Given the description of an element on the screen output the (x, y) to click on. 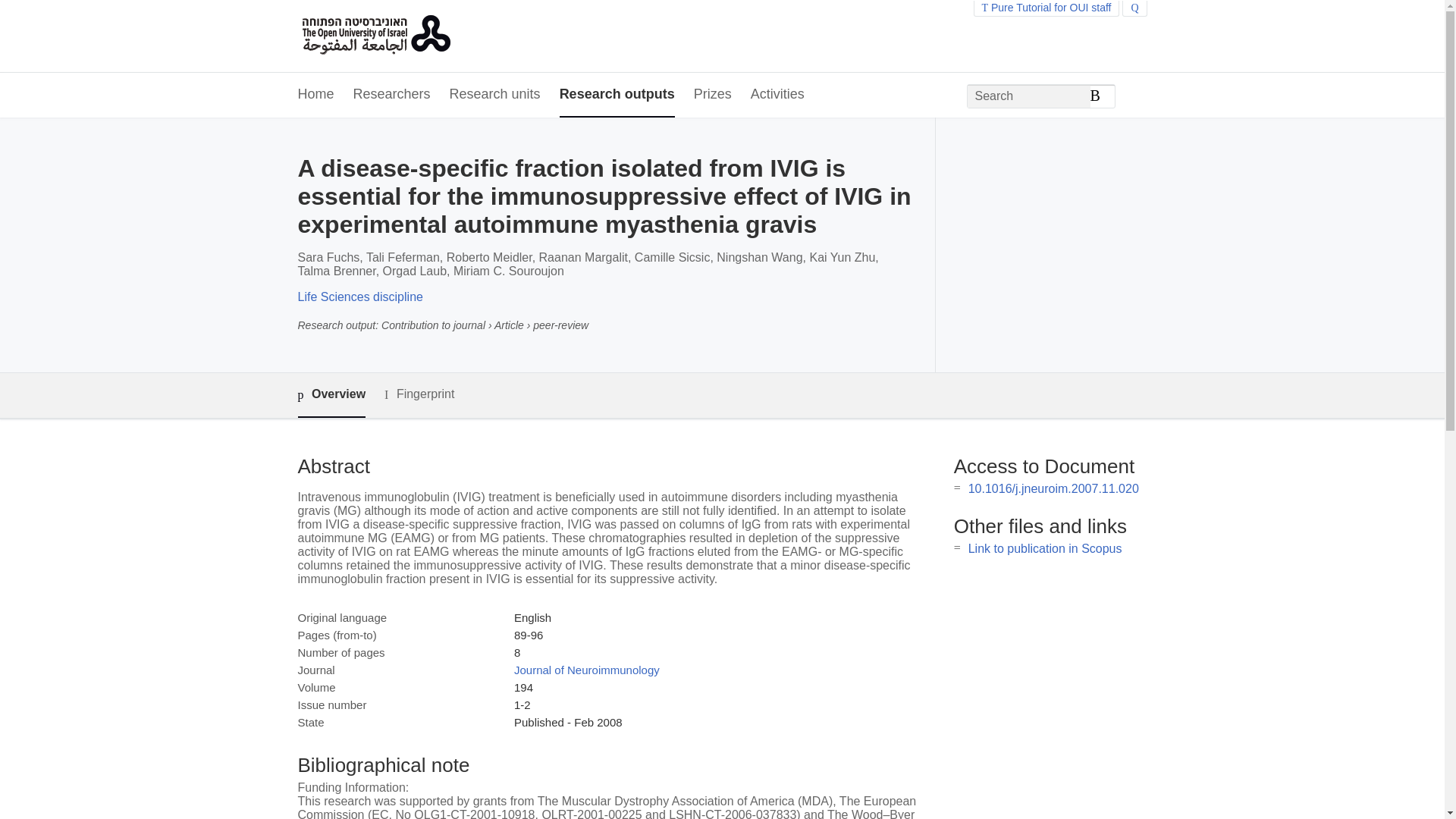
Research units (494, 94)
Researchers (391, 94)
Life Sciences discipline (359, 296)
Activities (778, 94)
Fingerprint (419, 394)
Pure Tutorial for OUI staff (1046, 7)
Link to publication in Scopus (1045, 548)
Research outputs (617, 94)
Journal of Neuroimmunology (586, 669)
Overview (331, 395)
Open University of Israel Home (374, 36)
